Given the description of an element on the screen output the (x, y) to click on. 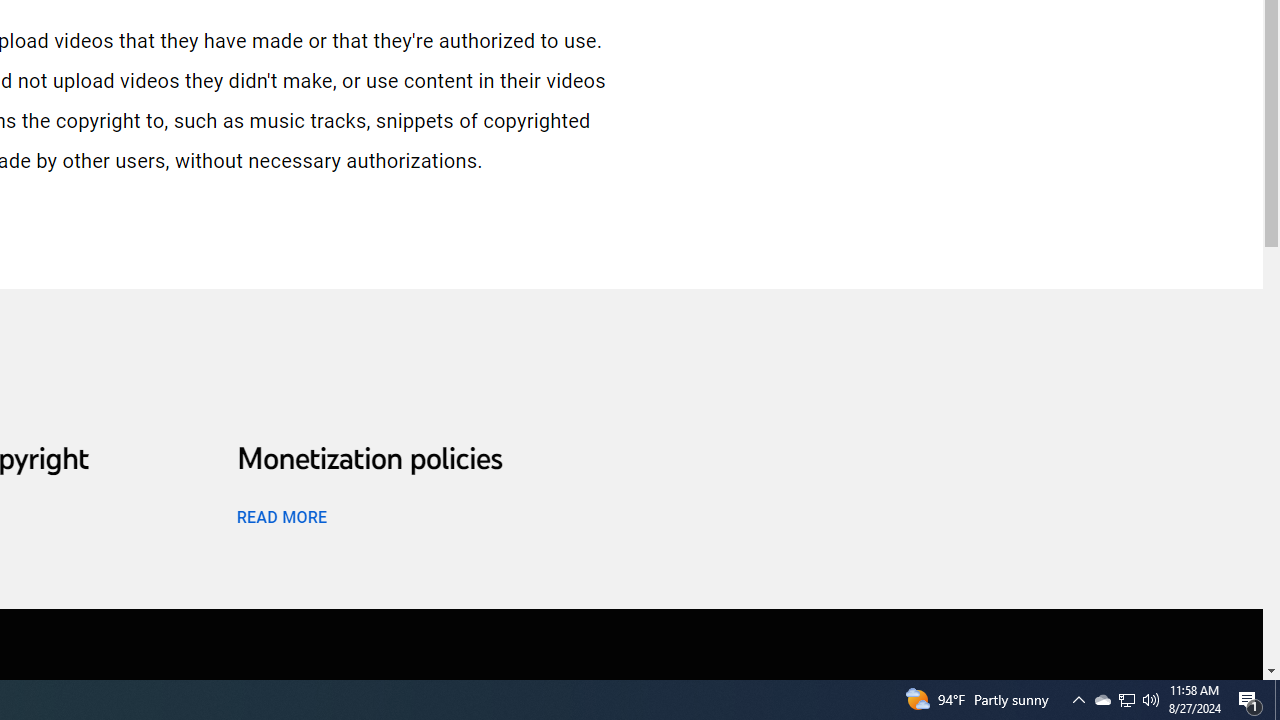
READ MORE (281, 516)
